Given the description of an element on the screen output the (x, y) to click on. 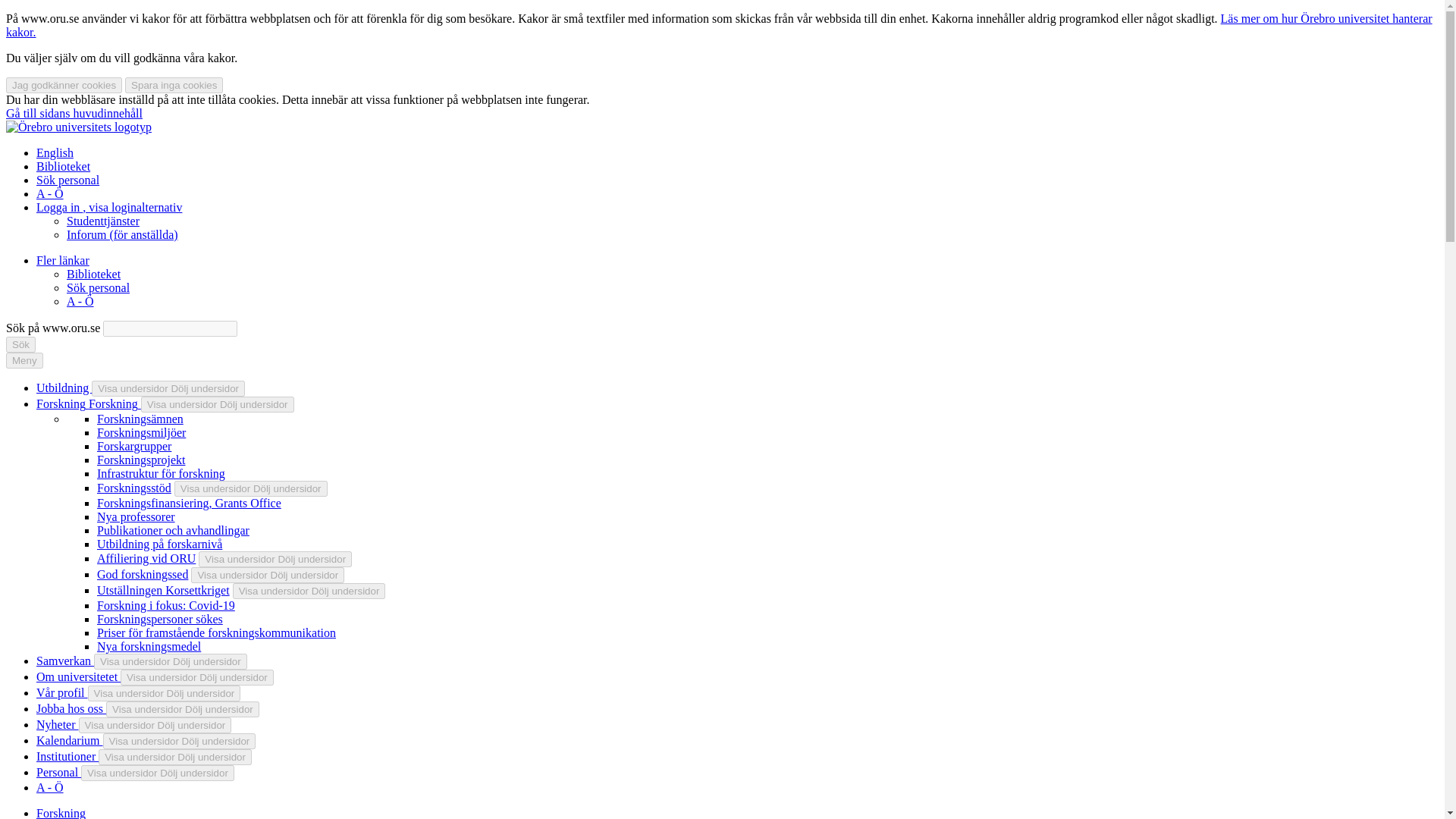
Publikationer och avhandlingar (172, 530)
Nya professorer (135, 516)
Forskningsprojekt (140, 459)
Spara inga cookies (173, 84)
Affiliering vid ORU (146, 558)
Forskning (62, 403)
Meny (24, 360)
Inforum (121, 234)
Logga in , visa loginalternativ (109, 206)
Biblioteket (93, 273)
Spara inga cookies (173, 84)
Biblioteket (63, 165)
English (55, 152)
Forskargrupper (134, 445)
Till startsidan (78, 126)
